Given the description of an element on the screen output the (x, y) to click on. 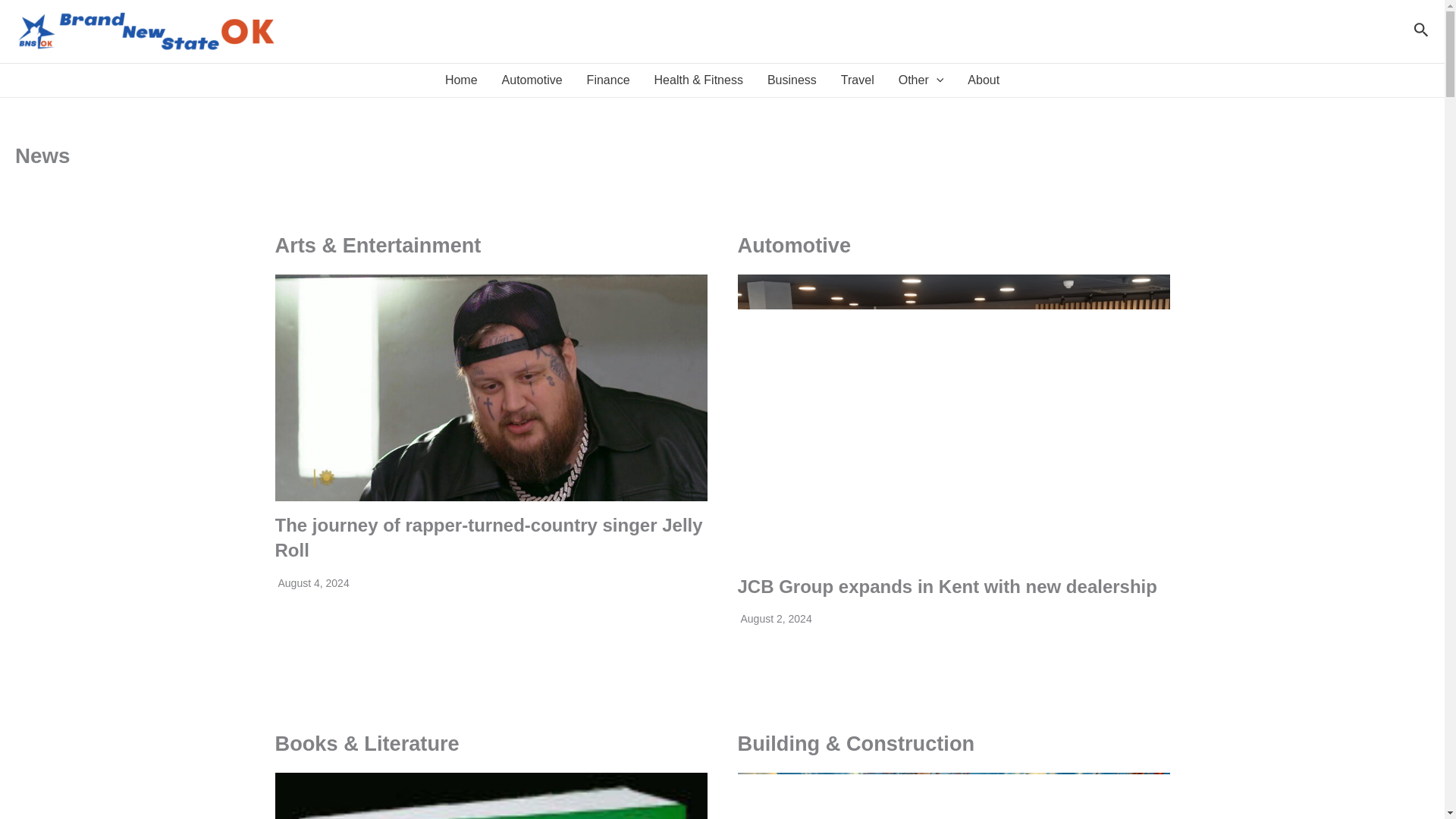
Travel (857, 80)
Business (791, 80)
Finance (608, 80)
About (983, 80)
Home (460, 80)
Other (921, 80)
Automotive (532, 80)
